Given the description of an element on the screen output the (x, y) to click on. 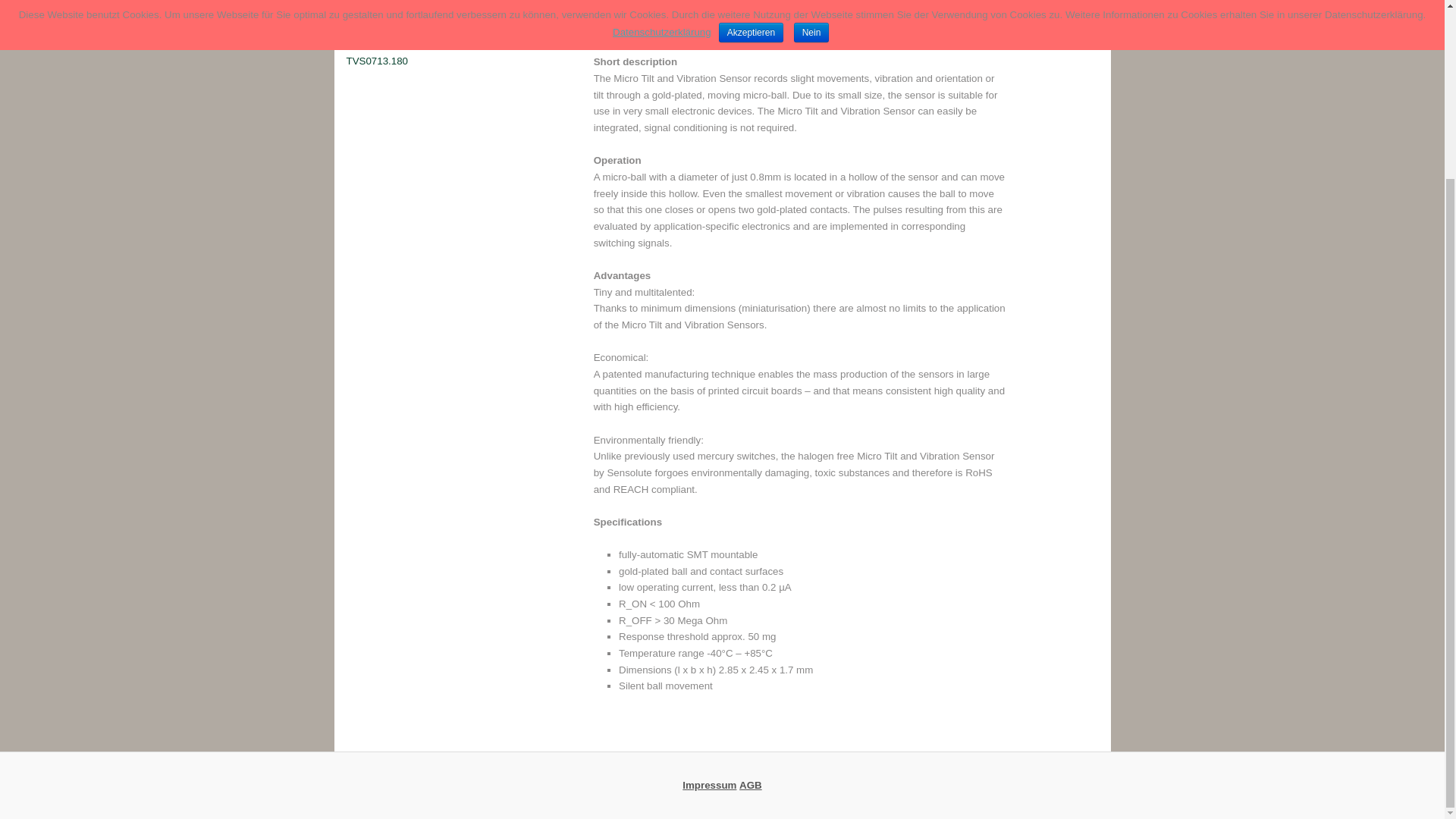
Impressum (709, 785)
AGB (750, 785)
Impressum (709, 785)
TVS0713.180 (376, 60)
AGB (750, 785)
